Given the description of an element on the screen output the (x, y) to click on. 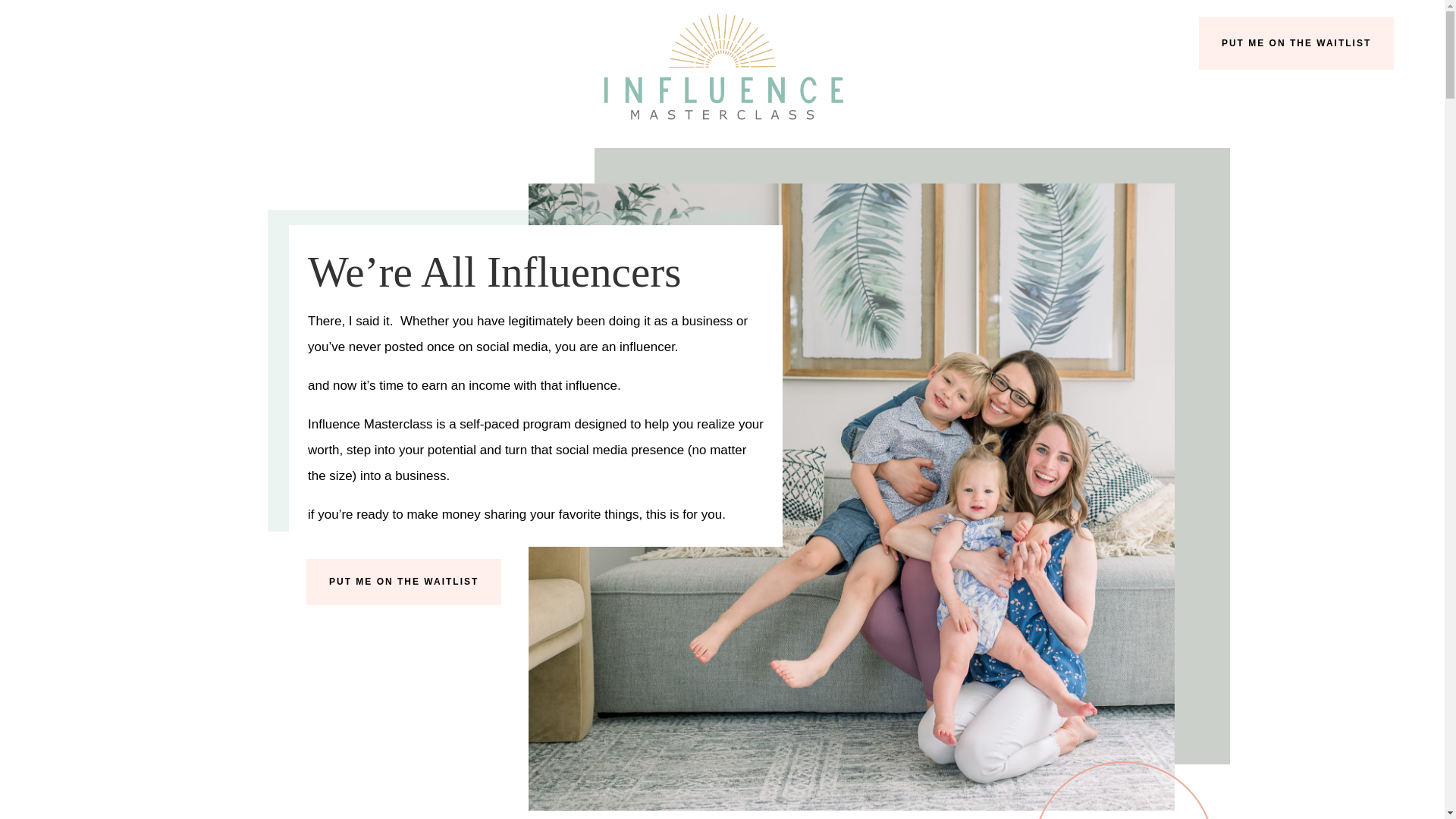
Influence Masterclass Logo-1 (722, 67)
PUT ME ON THE WAITLIST (1295, 42)
PUT ME ON THE WAITLIST (402, 581)
